Given the description of an element on the screen output the (x, y) to click on. 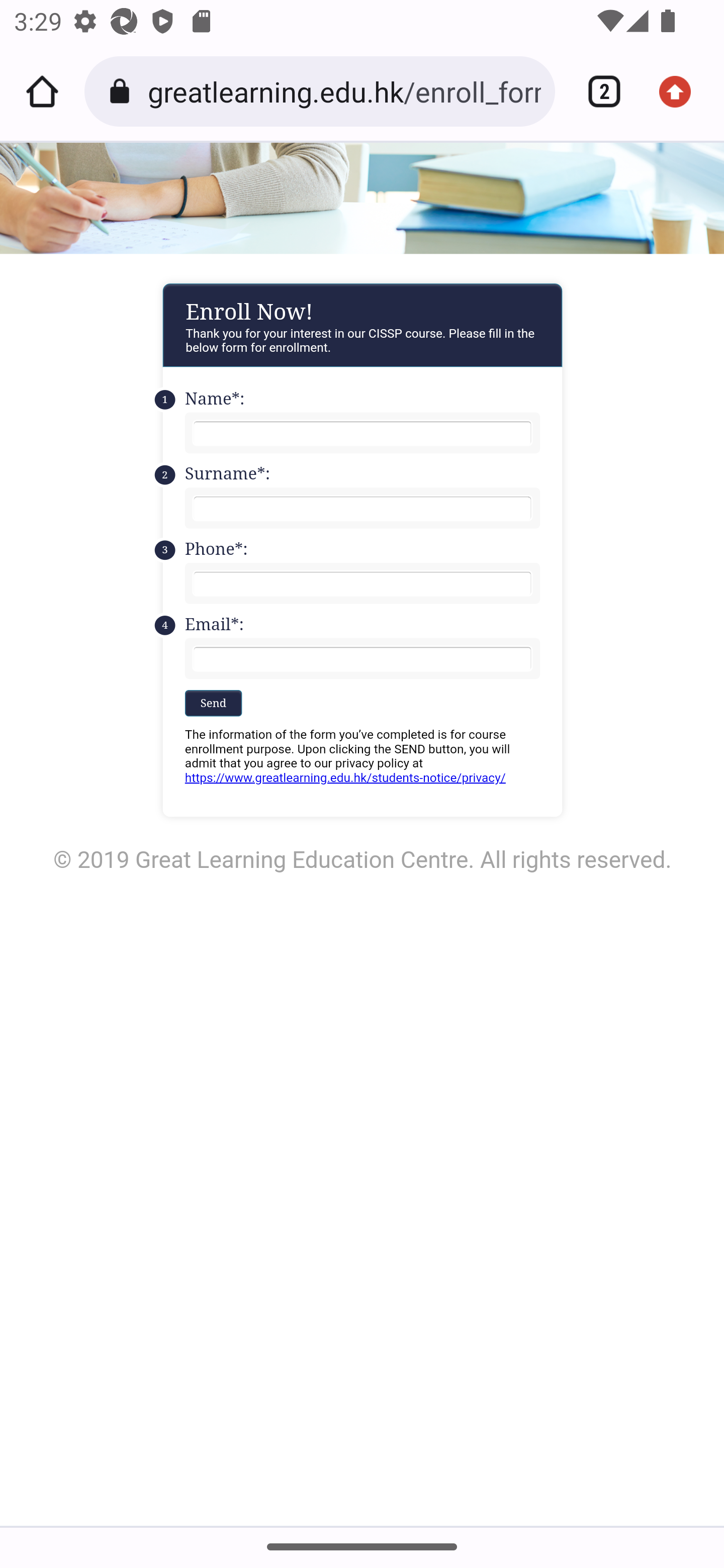
Home (42, 91)
Connection is secure (122, 91)
Switch or close tabs (597, 91)
Update available. More options (681, 91)
Send (213, 702)
